Given the description of an element on the screen output the (x, y) to click on. 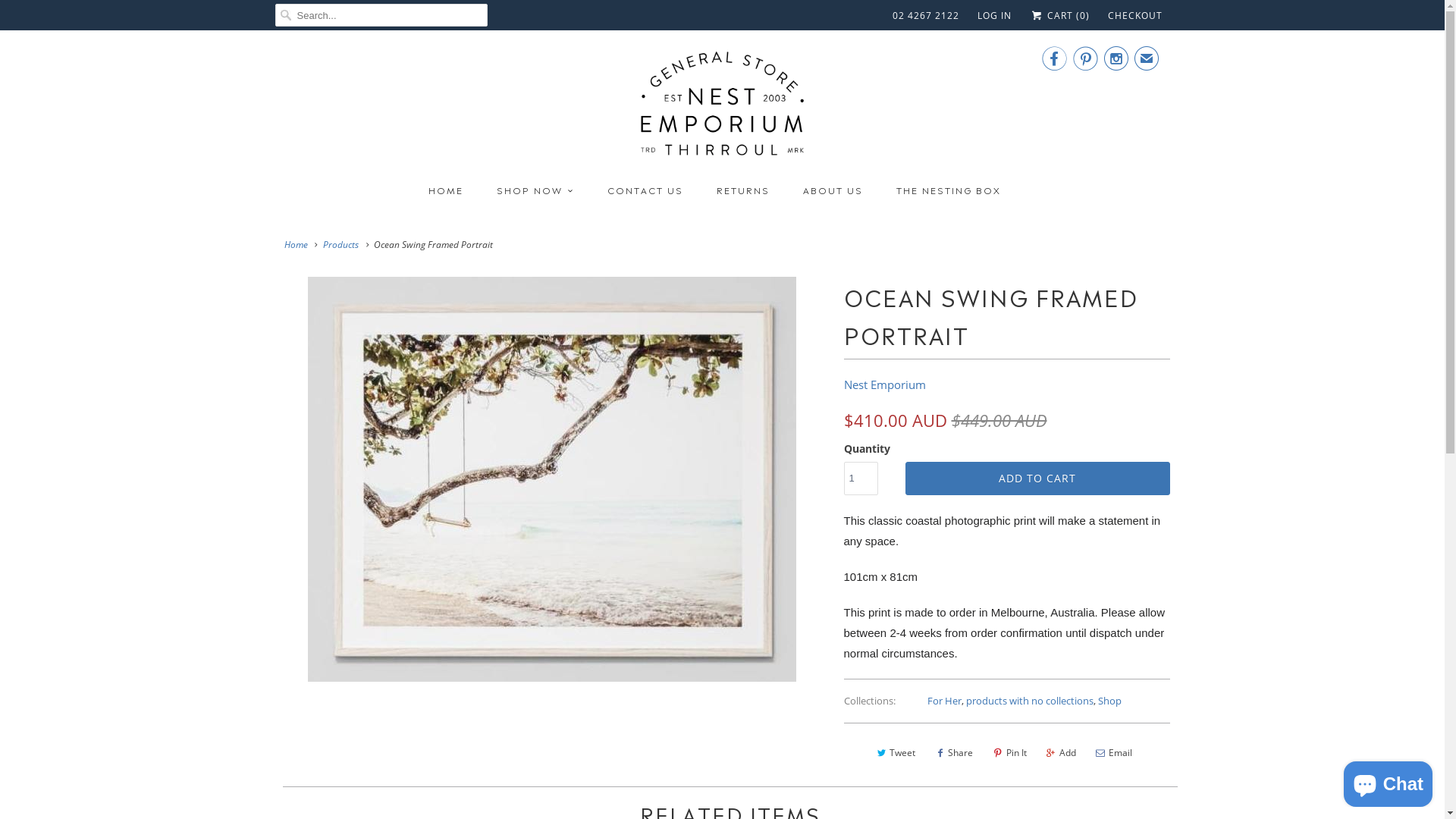
THE NESTING BOX Element type: text (948, 189)
products with no collections Element type: text (1029, 700)
Email Element type: text (1112, 752)
CART (0) Element type: text (1058, 14)
LOG IN Element type: text (994, 15)
ADD TO CART Element type: text (1037, 478)
Add Element type: text (1060, 752)
ABOUT US Element type: text (832, 189)
HOME Element type: text (445, 189)
Nest Emporium Element type: text (884, 384)
Shop Element type: text (1109, 700)
Beach Swing Framed Portrait Element type: hover (551, 478)
Products Element type: text (340, 244)
Shopify online store chat Element type: hover (1388, 780)
For Her Element type: text (944, 700)
Share Element type: text (952, 752)
CONTACT US Element type: text (645, 189)
RETURNS Element type: text (742, 189)
02 4267 2122 Element type: text (925, 15)
Home Element type: text (295, 244)
CHECKOUT Element type: text (1134, 15)
Pin It Element type: text (1008, 752)
Tweet Element type: text (894, 752)
SHOP NOW Element type: text (534, 189)
Nest Emporium  Element type: hover (722, 108)
